Given the description of an element on the screen output the (x, y) to click on. 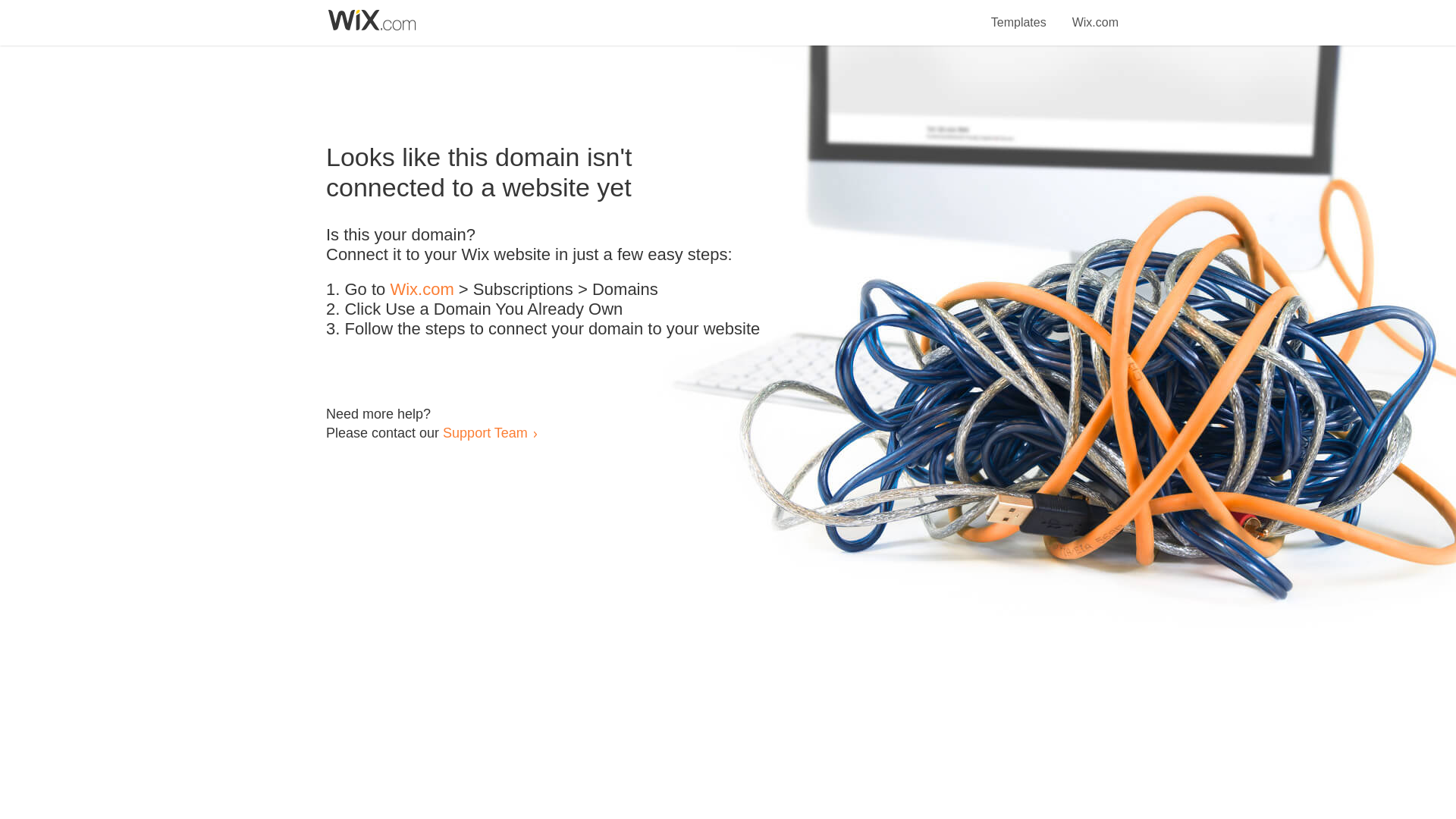
Templates (1018, 14)
Wix.com (421, 289)
Wix.com (1095, 14)
Support Team (484, 432)
